Given the description of an element on the screen output the (x, y) to click on. 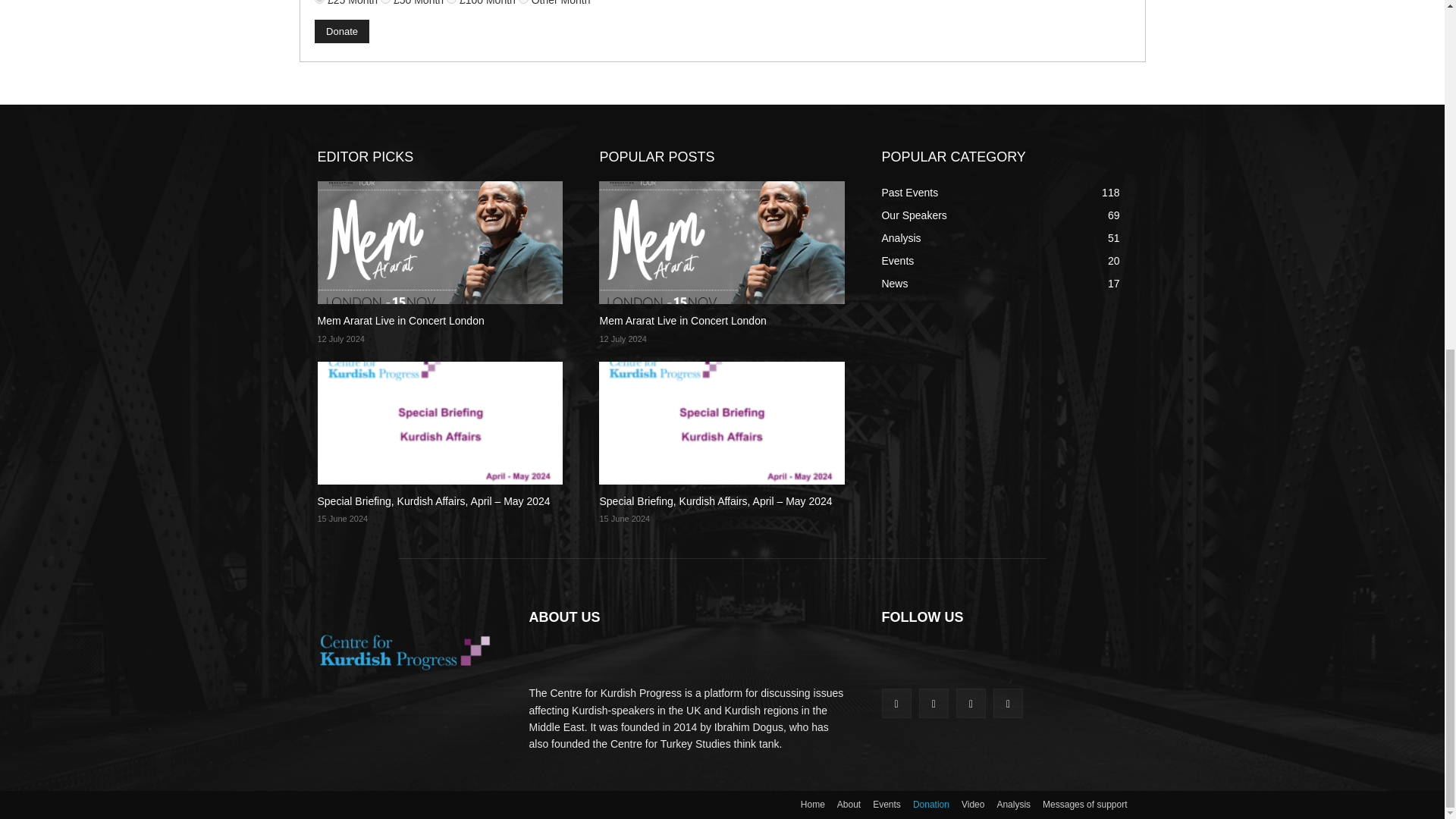
Mem Ararat Live in Concert London (681, 320)
other (523, 2)
Mem Ararat Live in Concert London (439, 241)
50 (385, 2)
Donate (341, 31)
25 (319, 2)
Donate (341, 31)
Mem Ararat Live in Concert London (721, 241)
100 (451, 2)
Mem Ararat Live in Concert London (400, 320)
